Given the description of an element on the screen output the (x, y) to click on. 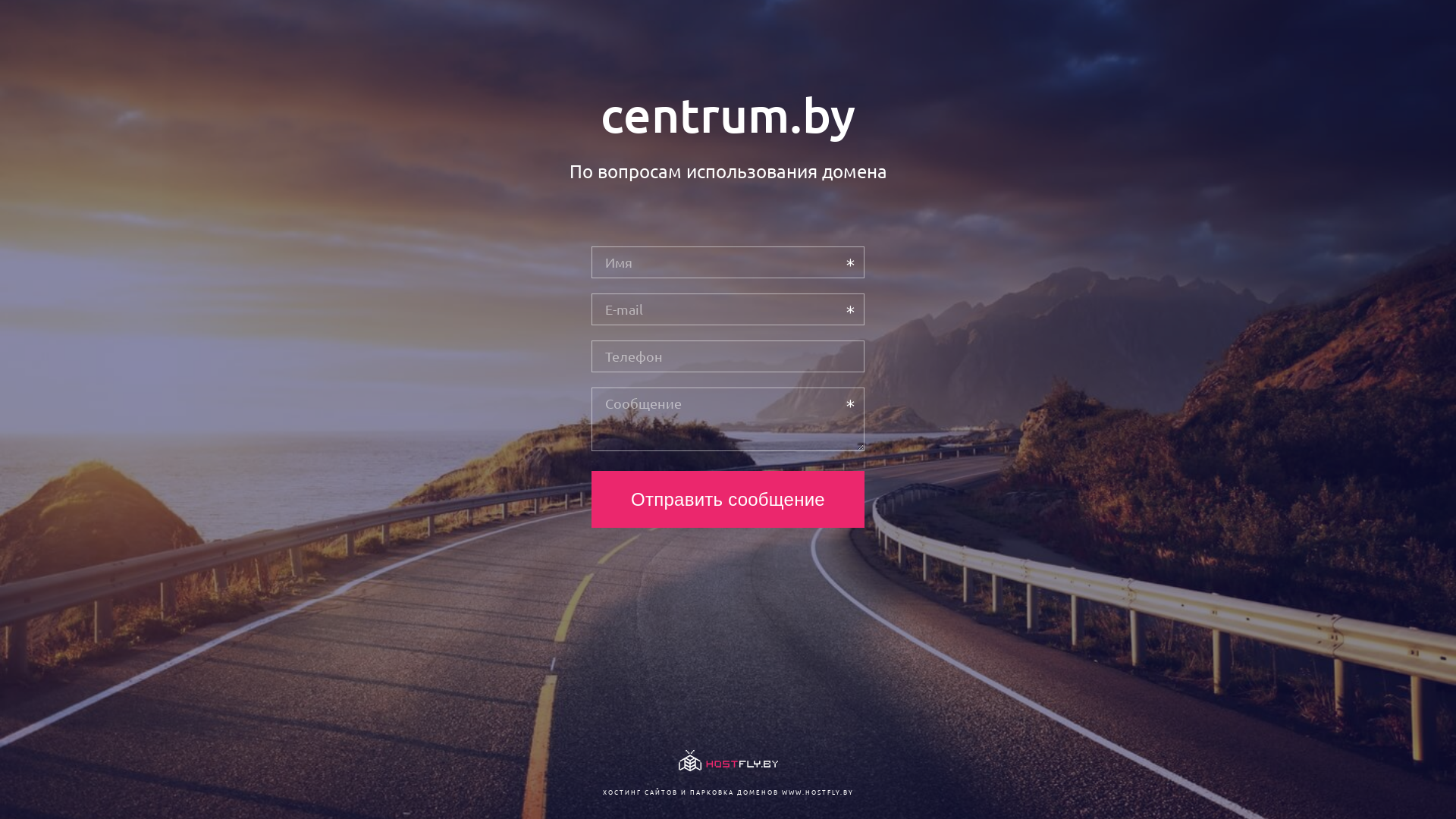
WWW.HOSTFLY.BY Element type: text (817, 791)
